Given the description of an element on the screen output the (x, y) to click on. 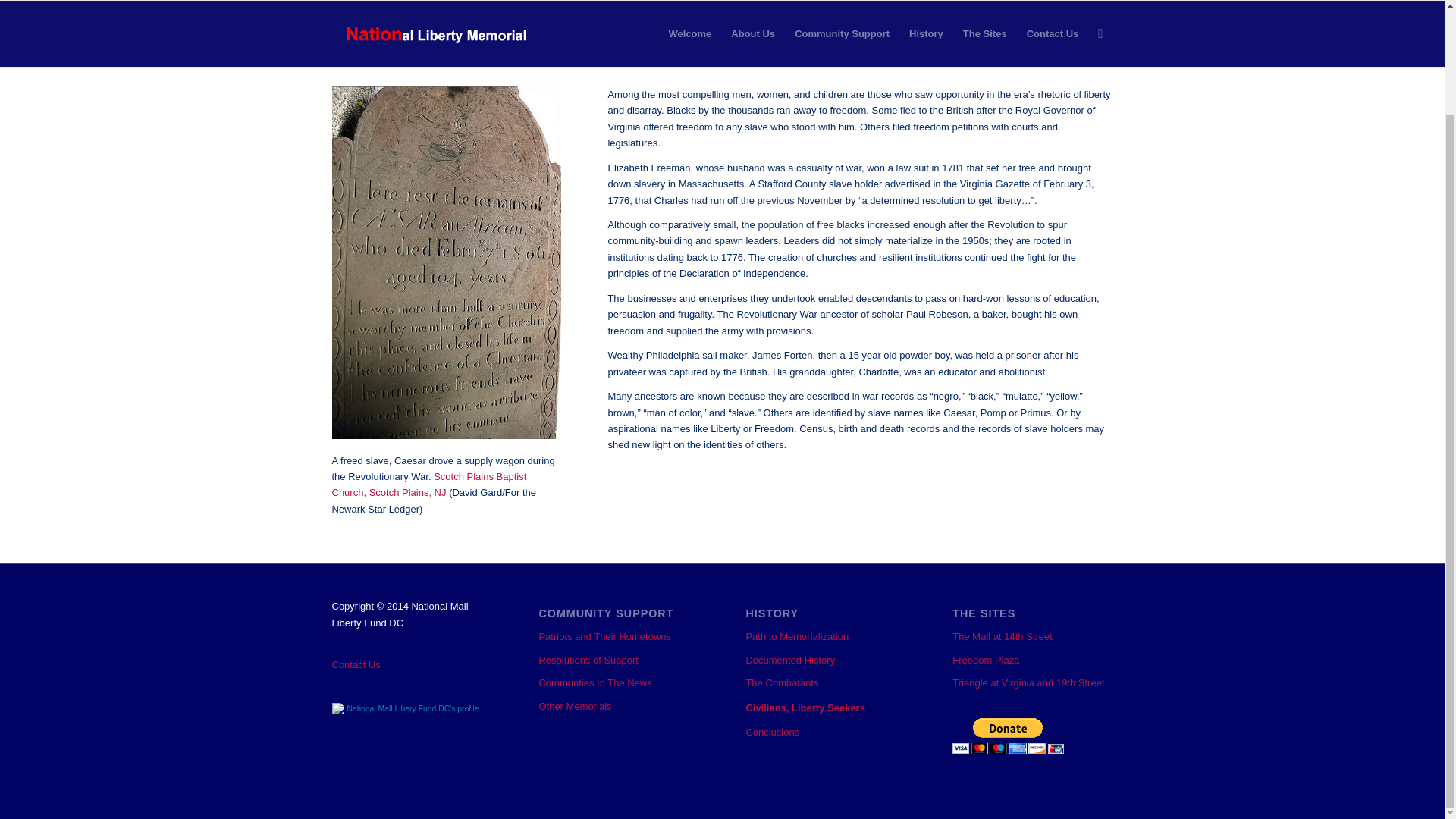
Other Memorials (618, 706)
Resolutions of Support (618, 660)
Scotch Plains Baptist Church, Scotch Plains, NJ (429, 483)
Communties In The News (618, 682)
Contact Us (411, 664)
Path to Memorialization (825, 636)
Civilians, Liberty Seekers (825, 708)
The Combatants (825, 682)
Documented History (825, 660)
